Given the description of an element on the screen output the (x, y) to click on. 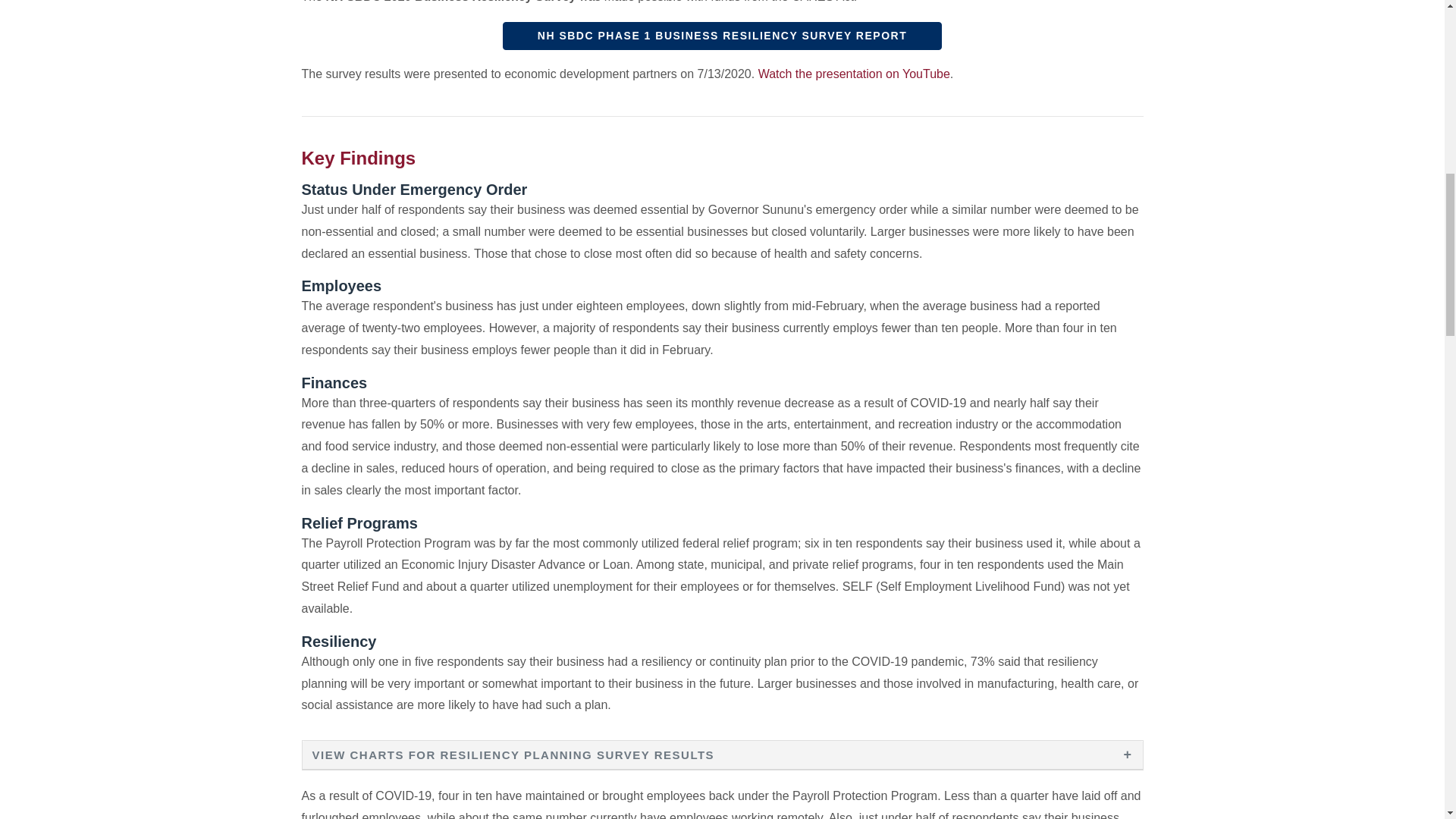
NH SBDC 2020 Business Resiliency Survey (722, 36)
Watch the presentation on YouTube (854, 73)
NH SBDC PHASE 1 BUSINESS RESILIENCY SURVEY REPORT (722, 36)
VIEW CHARTS FOR RESILIENCY PLANNING SURVEY RESULTS (721, 754)
